Given the description of an element on the screen output the (x, y) to click on. 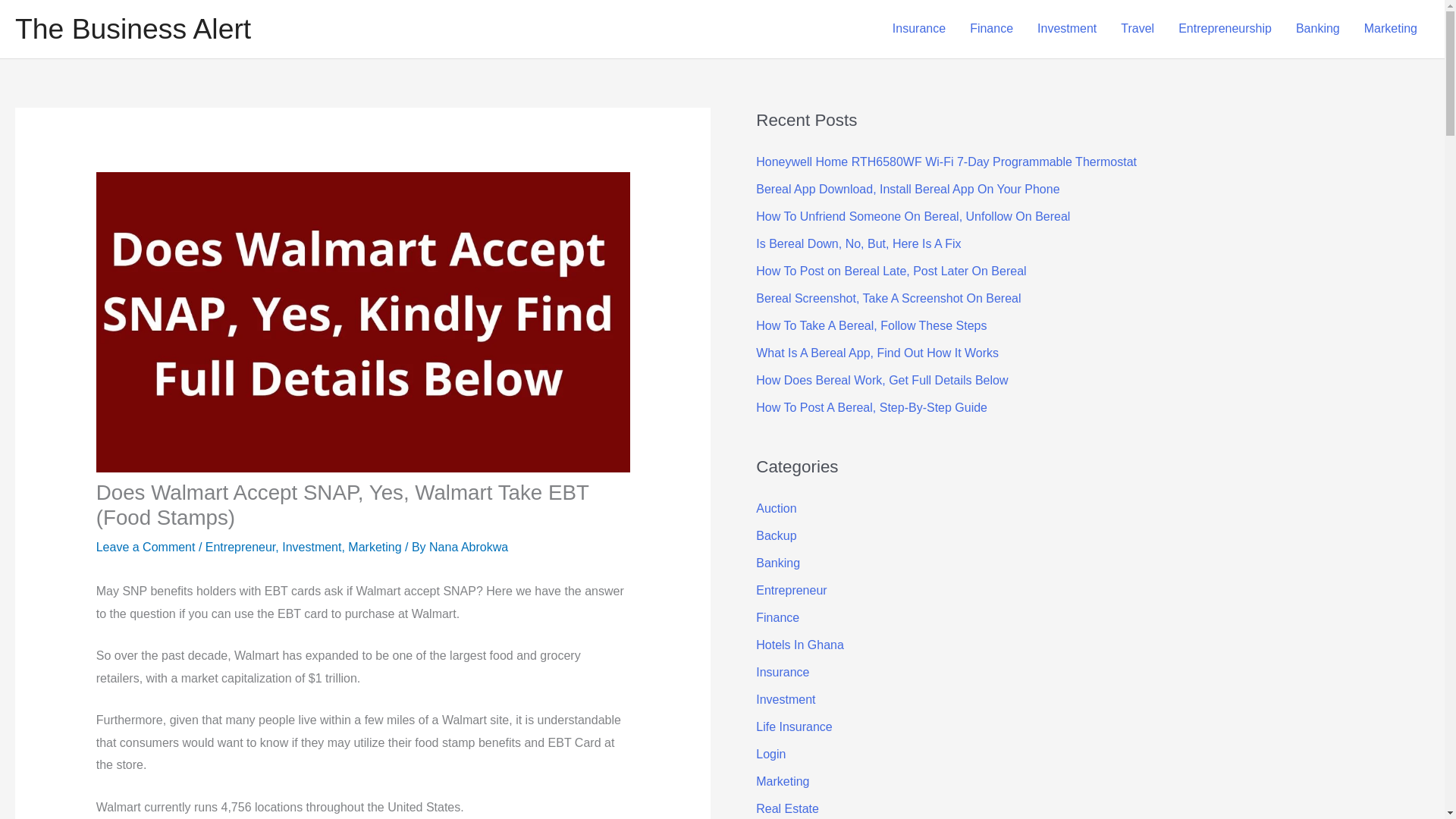
Insurance (919, 28)
Investment (311, 546)
Entrepreneur (240, 546)
View all posts by Nana Abrokwa (468, 546)
Marketing (1390, 28)
Marketing (374, 546)
Banking (1318, 28)
Leave a Comment (145, 546)
The Business Alert (132, 29)
Travel (1137, 28)
